Given the description of an element on the screen output the (x, y) to click on. 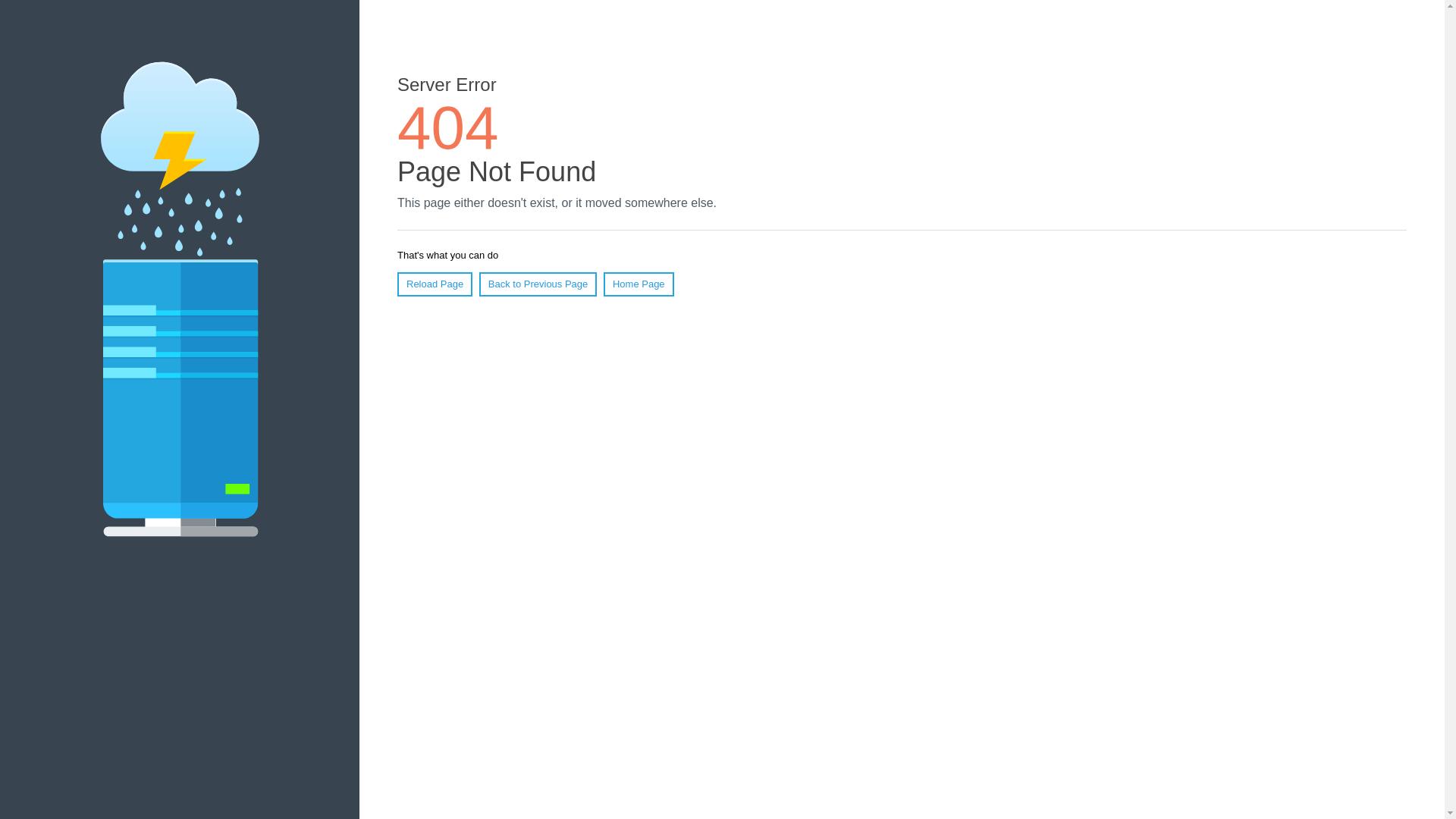
Reload Page Element type: text (434, 284)
Home Page Element type: text (638, 284)
Back to Previous Page Element type: text (538, 284)
